Given the description of an element on the screen output the (x, y) to click on. 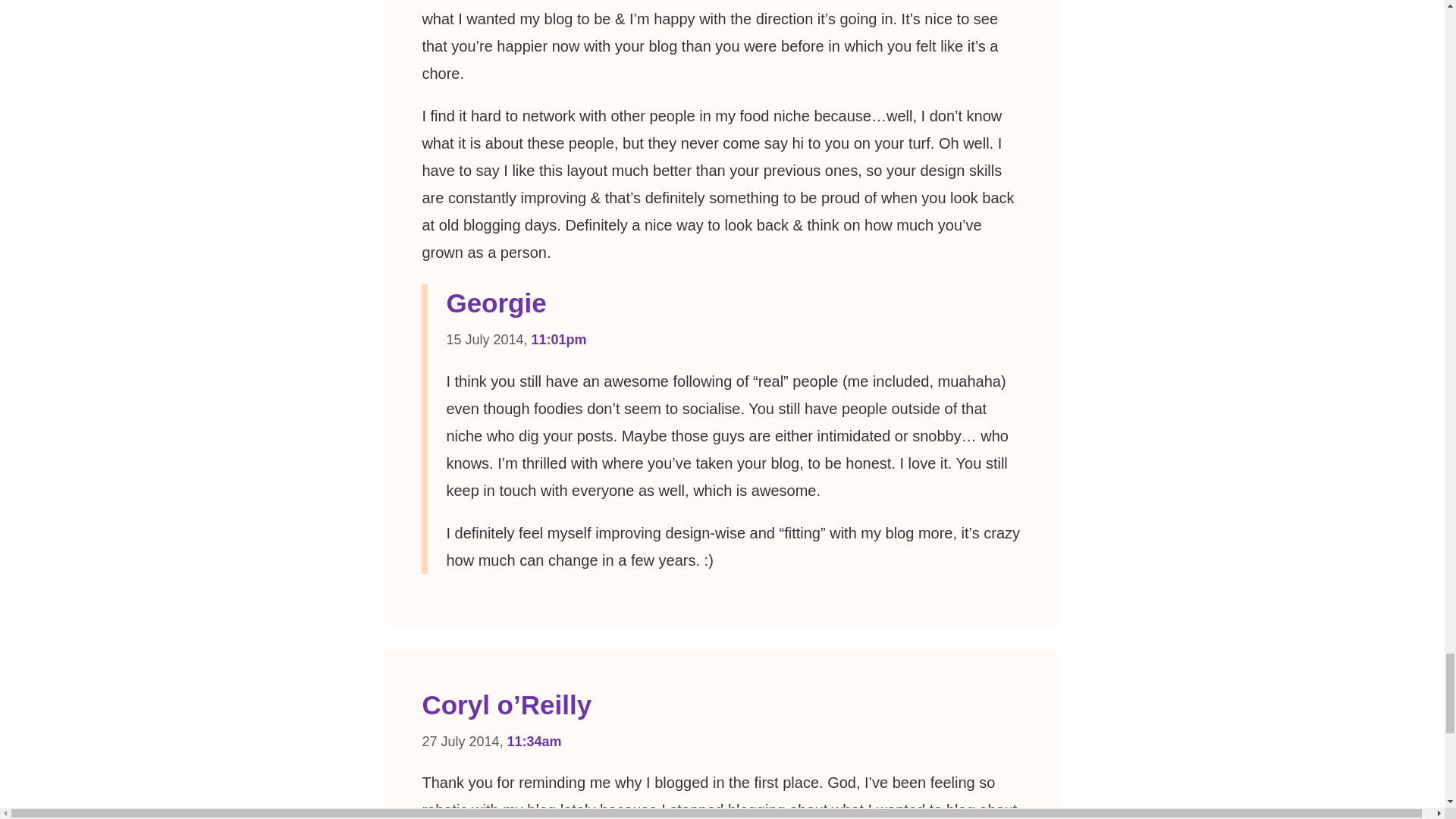
11:01pm (558, 339)
Georgie (495, 302)
11:34am (533, 741)
